Given the description of an element on the screen output the (x, y) to click on. 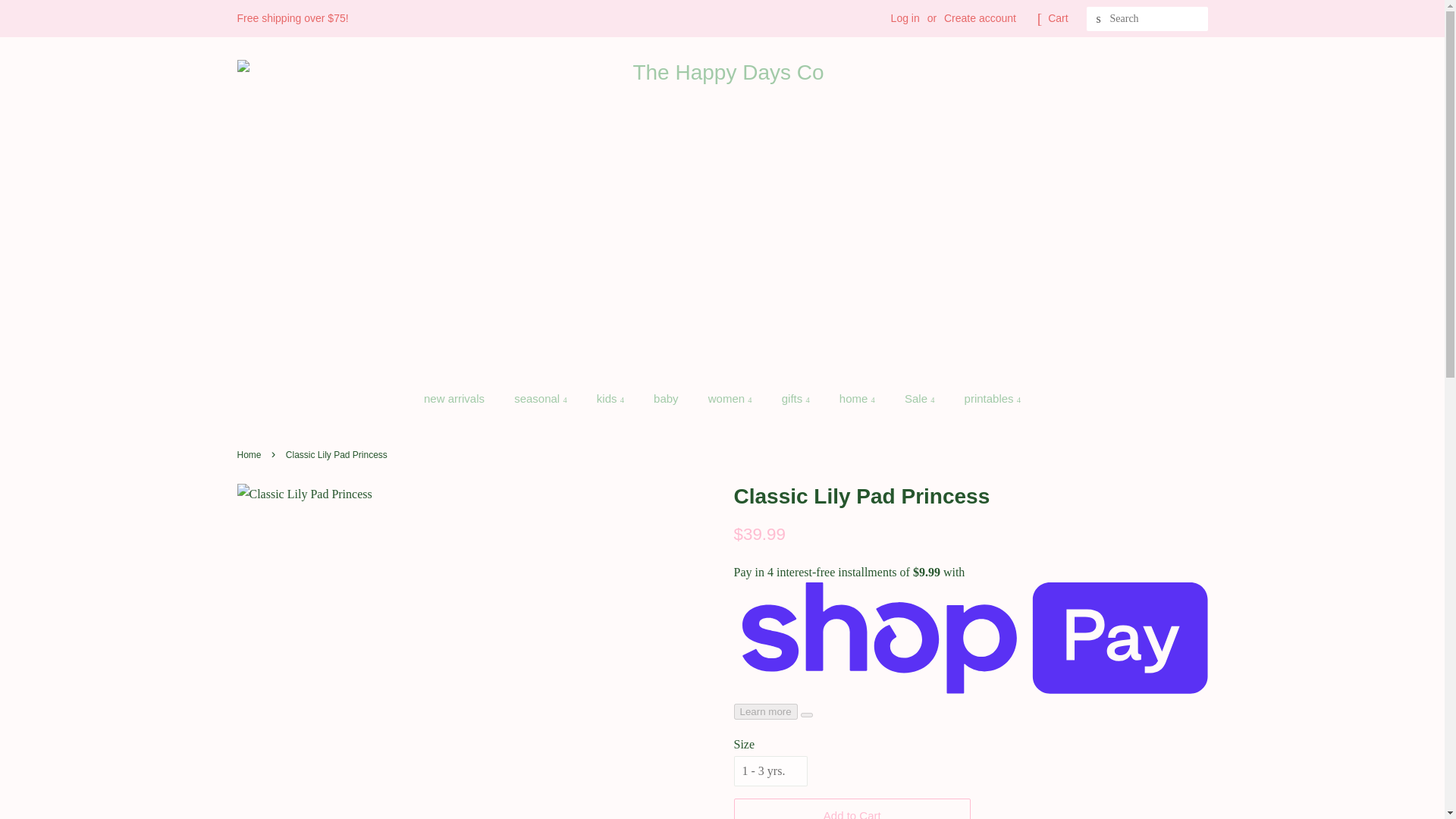
Log in (905, 18)
Back to the frontpage (249, 454)
Search (1097, 18)
Create account (979, 18)
Cart (1057, 18)
